Given the description of an element on the screen output the (x, y) to click on. 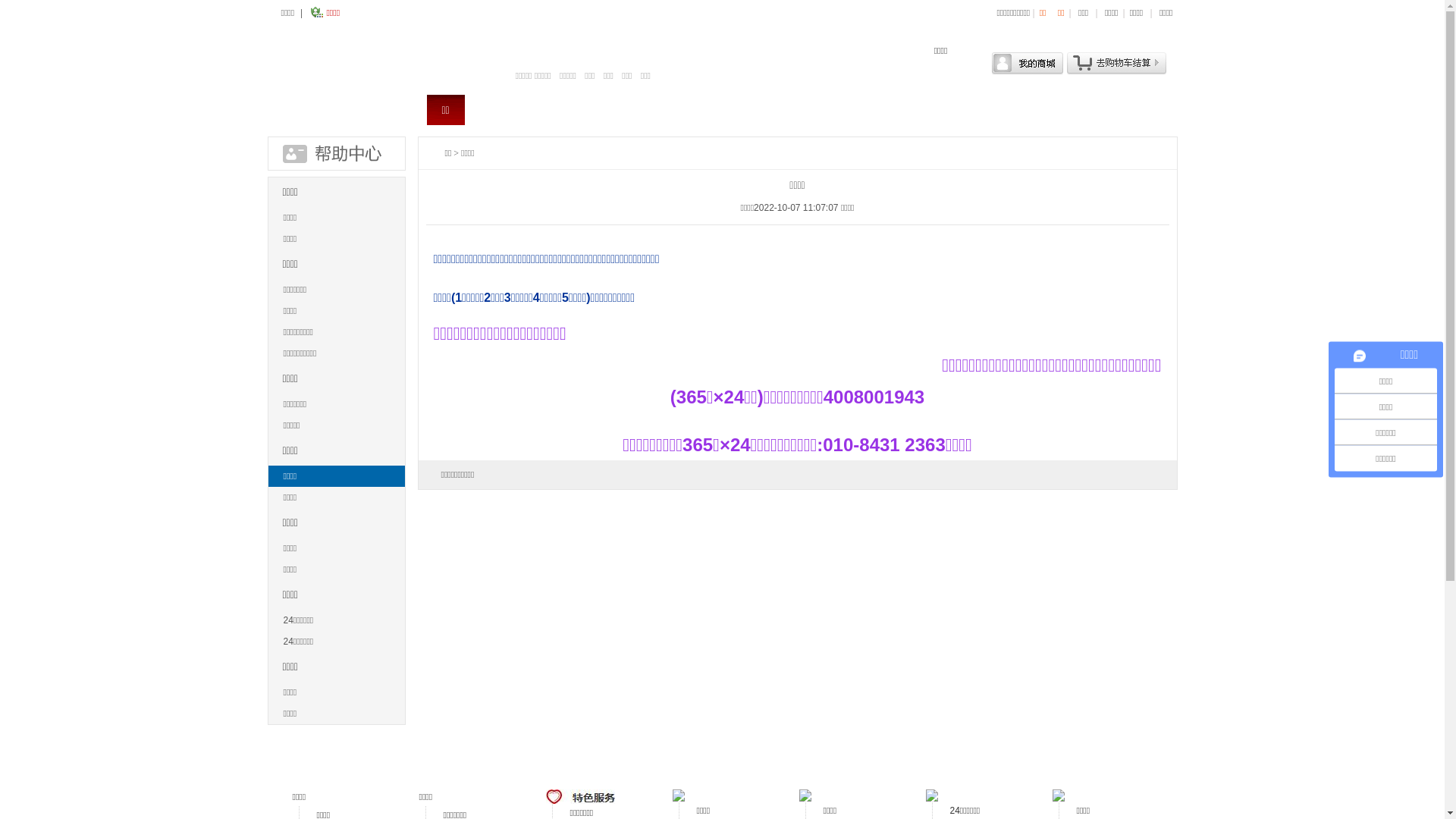
010-84312363 Element type: text (812, 109)
13811139360 Element type: text (919, 109)
